Given the description of an element on the screen output the (x, y) to click on. 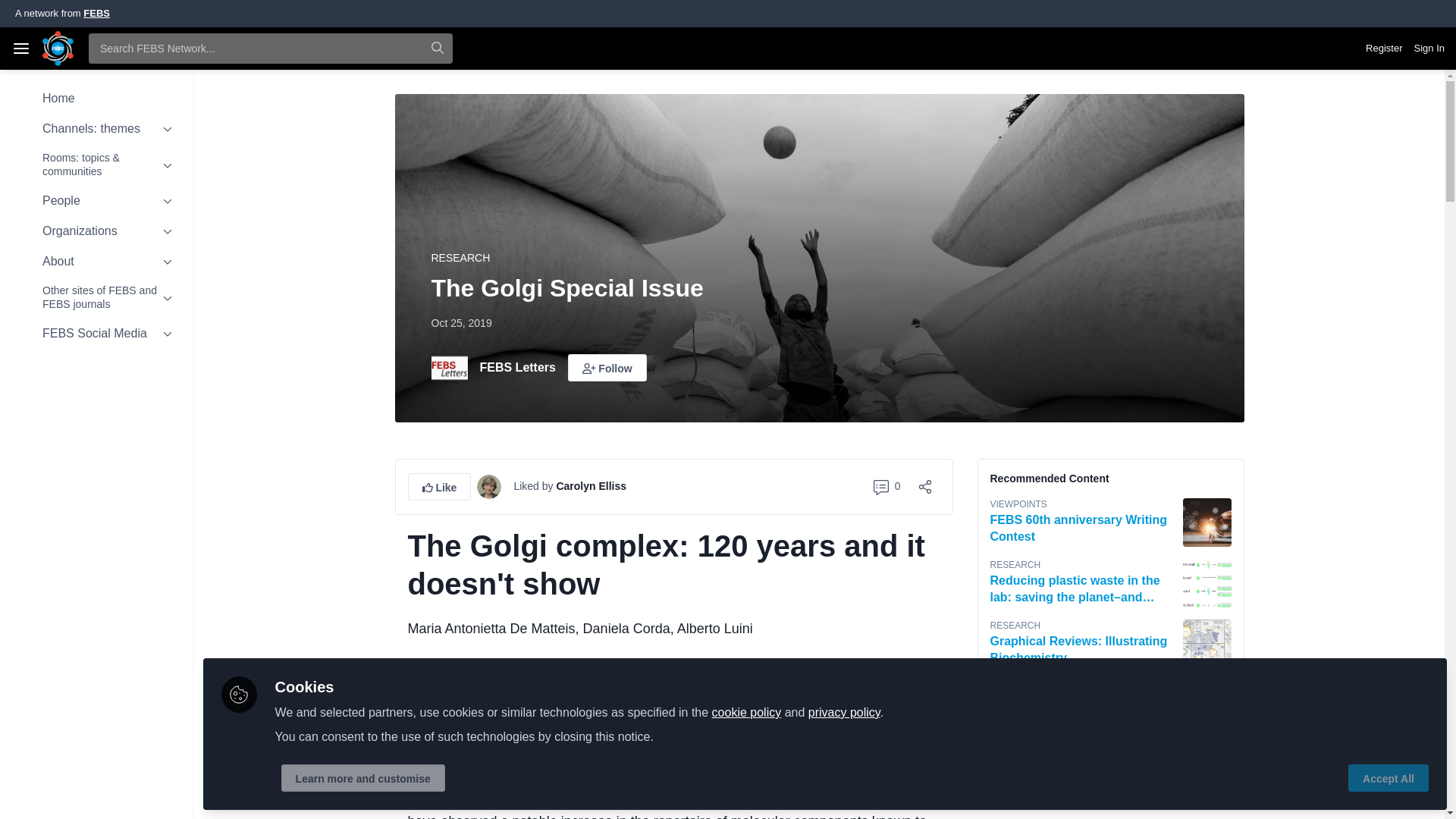
People (96, 200)
FEBS (96, 12)
Search (437, 48)
Home (96, 98)
FEBS Social Media (96, 333)
People (96, 200)
Home (96, 98)
Other sites of FEBS and FEBS journals (96, 297)
Menu (21, 48)
Organizations (96, 230)
Channels: themes (96, 128)
Organizations (96, 230)
Channels: themes (96, 128)
About (96, 261)
